Given the description of an element on the screen output the (x, y) to click on. 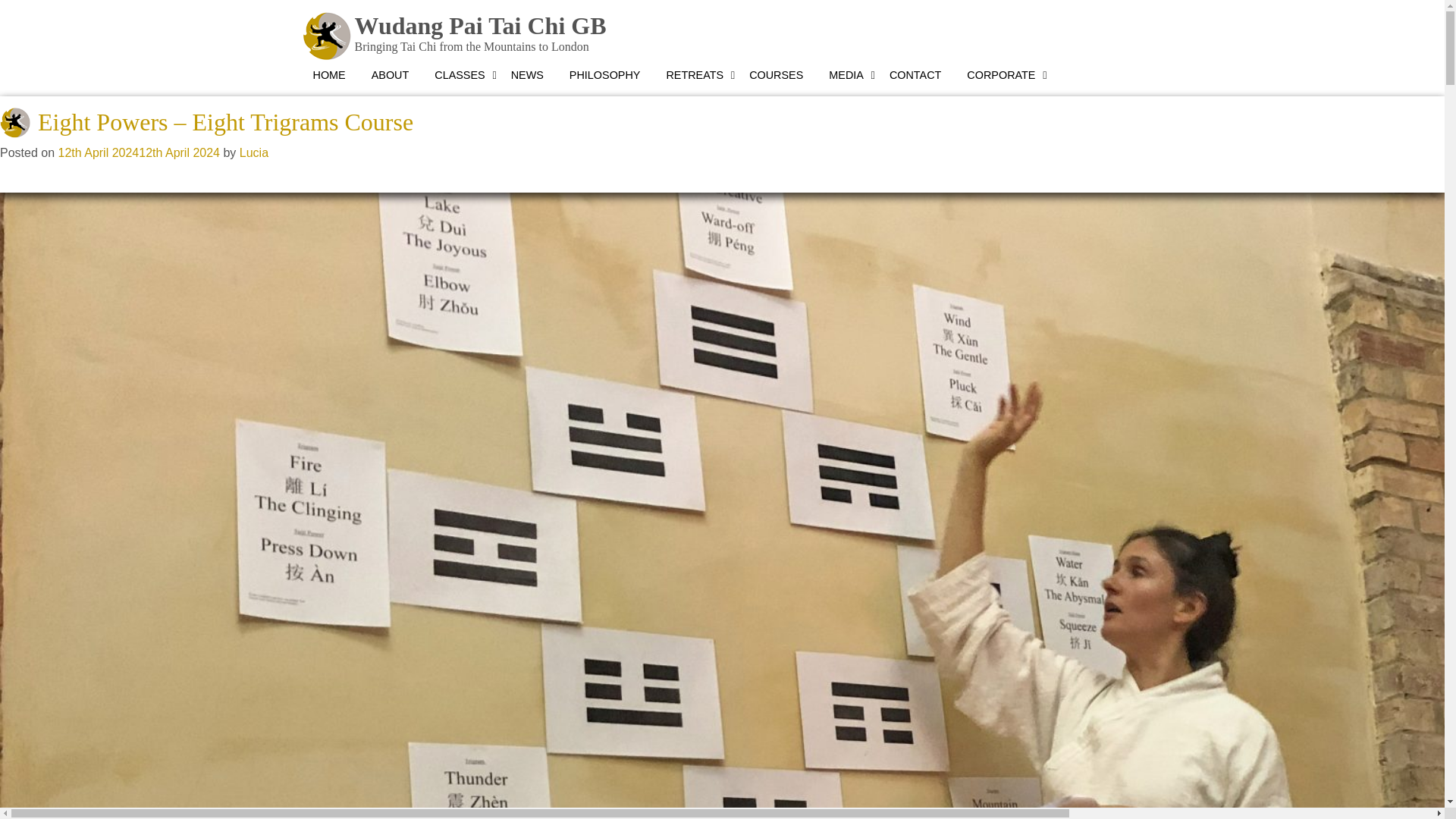
CLASSES (459, 75)
NEWS (526, 75)
RETREATS (694, 75)
PHILOSOPHY (604, 75)
HOME (328, 75)
CONTACT (914, 75)
CORPORATE (1000, 75)
ABOUT (389, 75)
12th April 202412th April 2024 (138, 152)
MEDIA (845, 75)
Lucia (253, 152)
COURSES (775, 75)
